Given the description of an element on the screen output the (x, y) to click on. 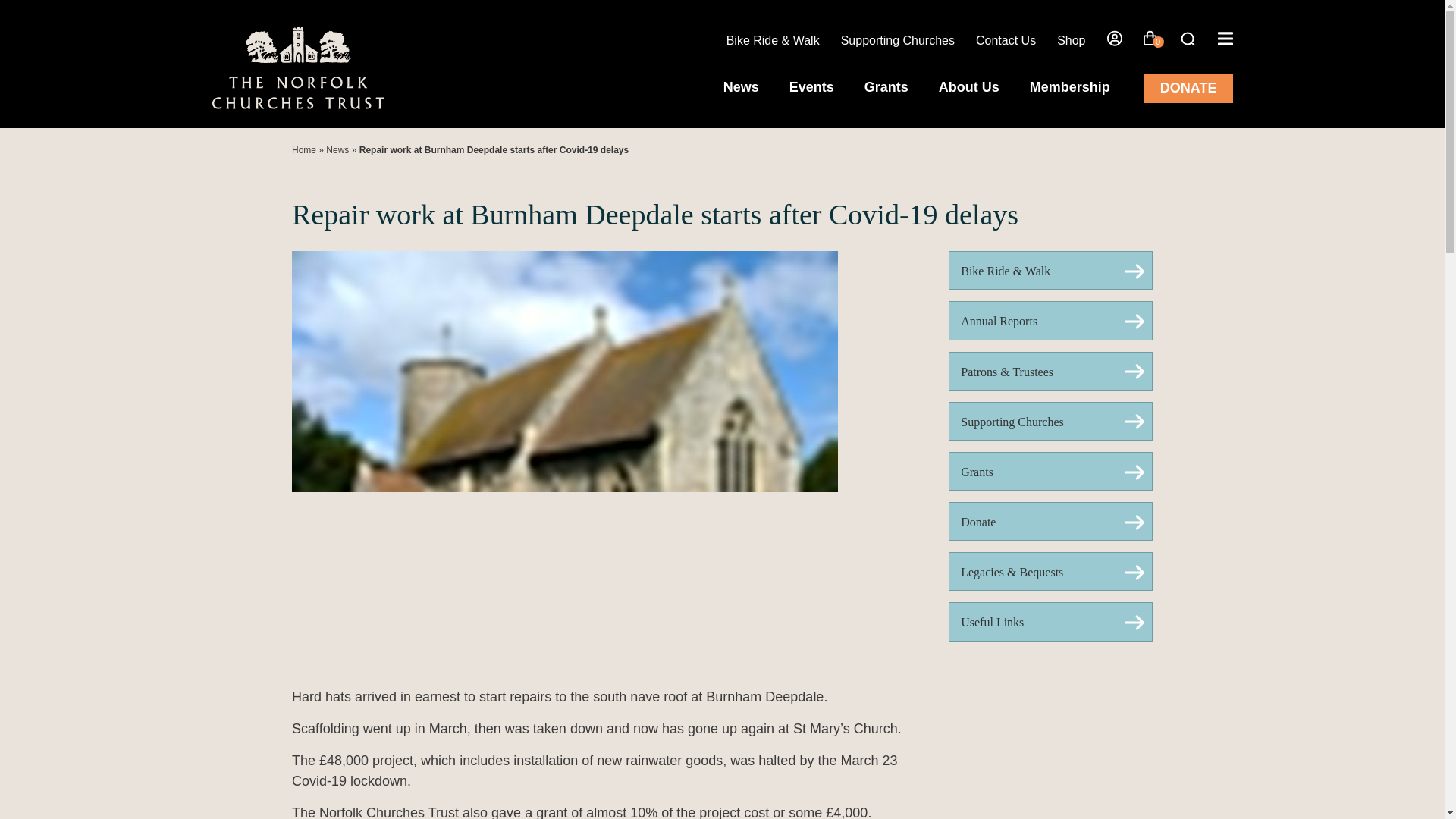
News (740, 86)
0 (1149, 42)
Events (811, 86)
Grants (886, 86)
Membership (1069, 86)
DONATE (1187, 88)
Supporting Churches (898, 40)
Contact Us (1005, 40)
About Us (968, 86)
Shop (1070, 40)
